Given the description of an element on the screen output the (x, y) to click on. 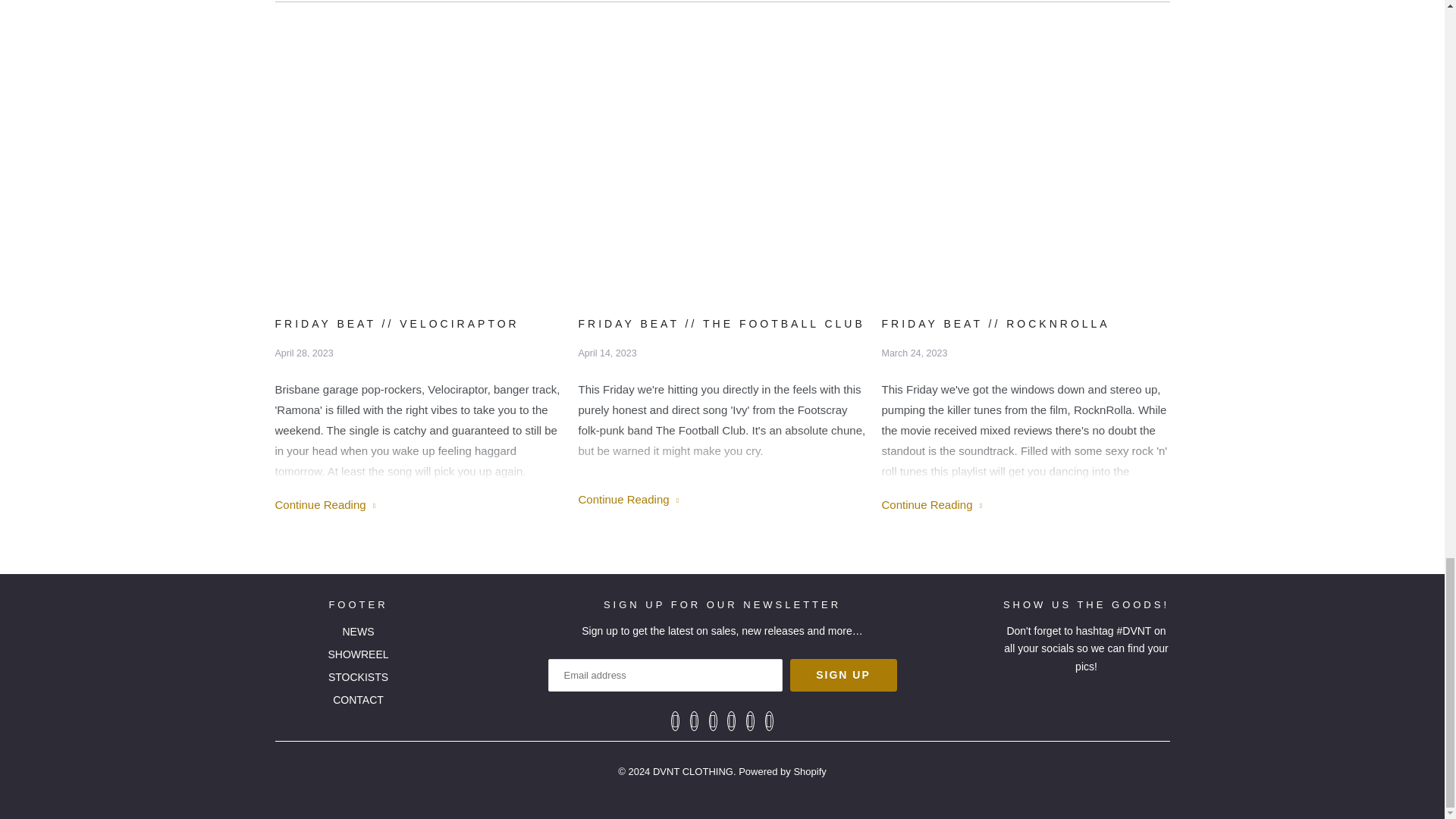
Continue Reading (628, 499)
Sign Up (843, 675)
STOCKISTS (358, 676)
Continue Reading (325, 504)
CONTACT (358, 699)
Sign Up (843, 675)
Continue Reading (930, 504)
NEWS (358, 631)
SHOWREEL (357, 654)
